Given the description of an element on the screen output the (x, y) to click on. 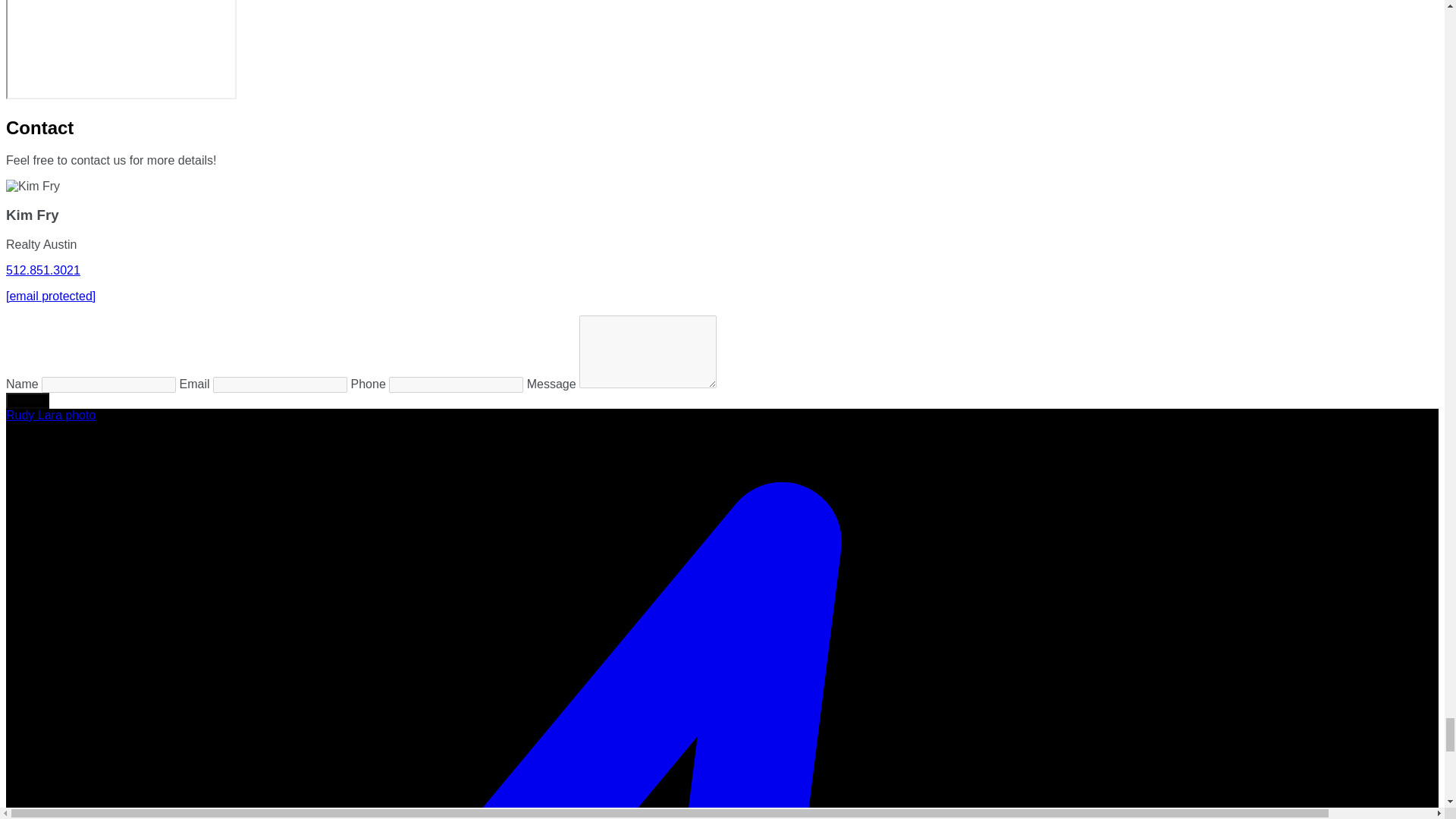
 Map (120, 49)
Phone Kim Fry (42, 269)
Email Kim Fry (50, 295)
